Given the description of an element on the screen output the (x, y) to click on. 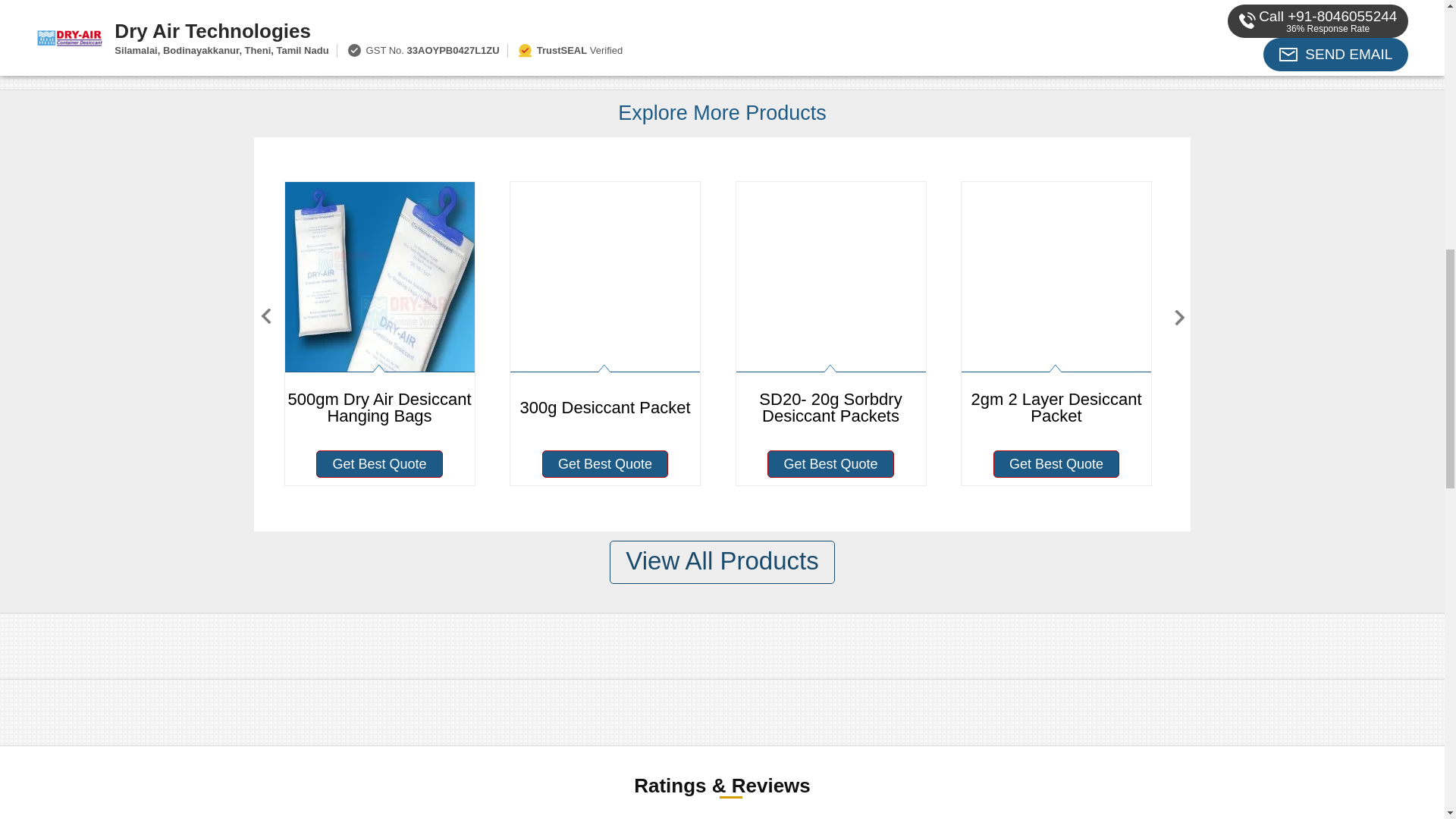
View All Products (722, 561)
